Given the description of an element on the screen output the (x, y) to click on. 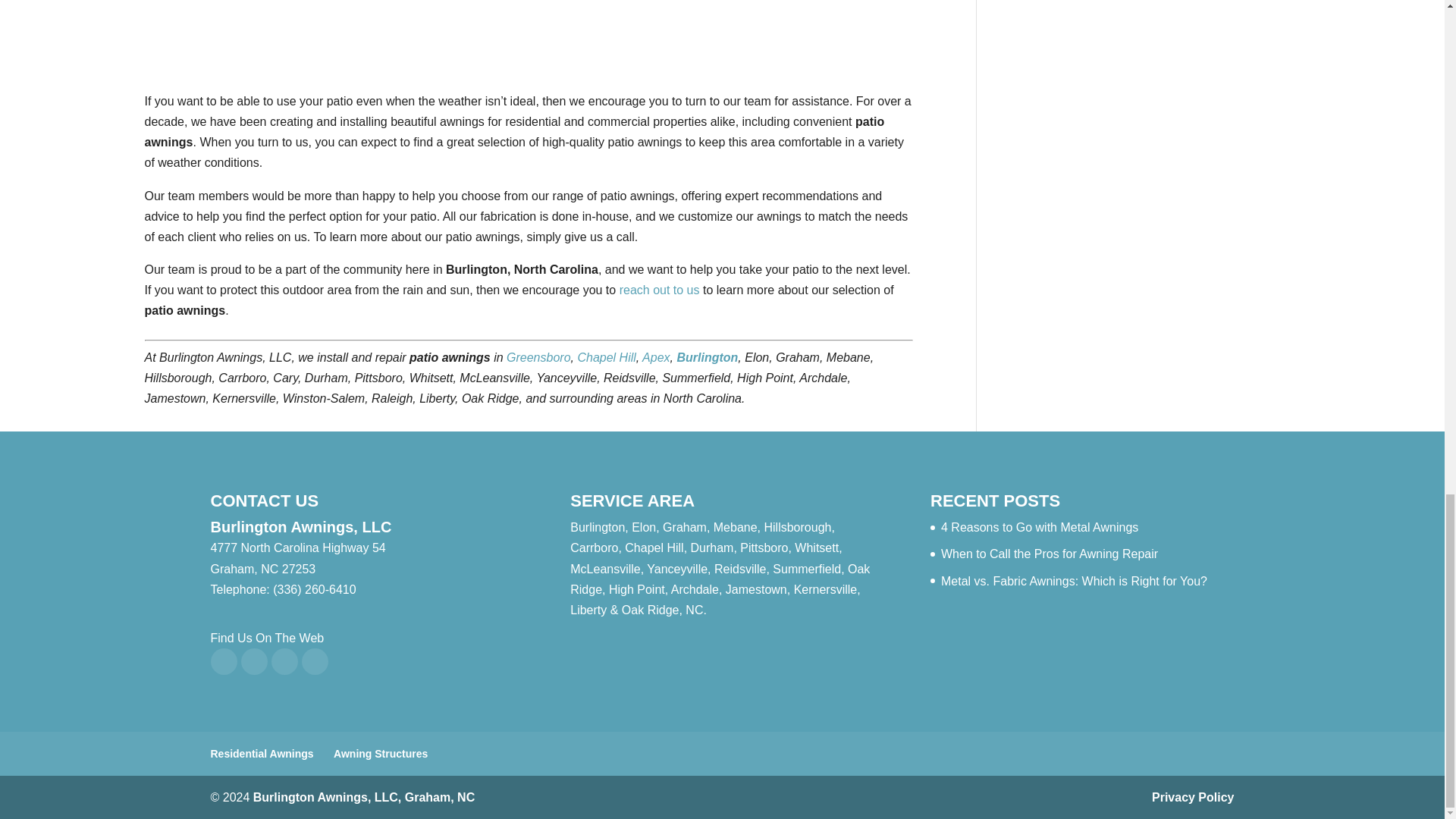
LinkedIn (284, 661)
Google My Business (315, 661)
Facebook (224, 661)
Twitter (254, 661)
